Given the description of an element on the screen output the (x, y) to click on. 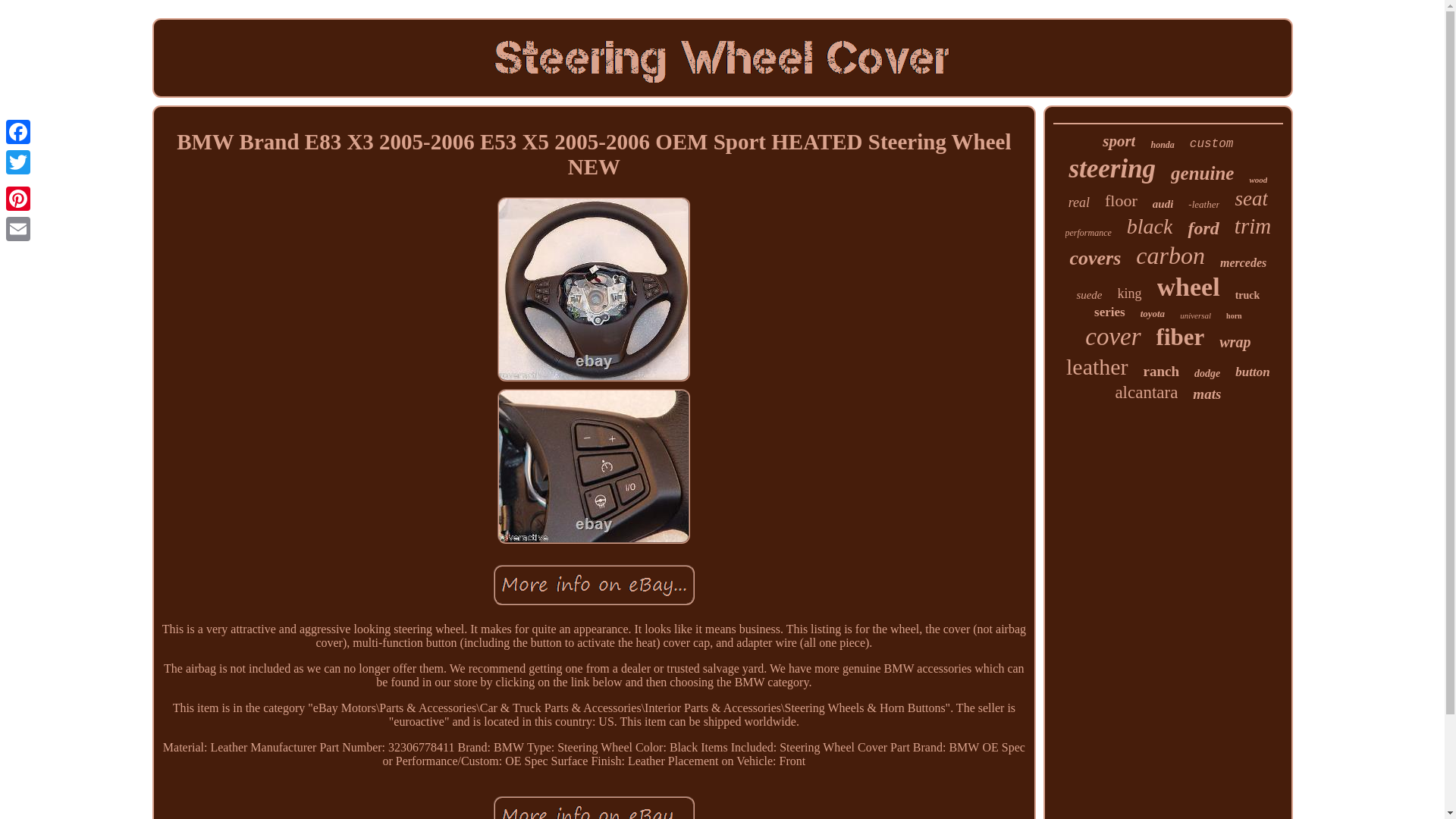
mercedes (1243, 263)
black (1149, 226)
wheel (1188, 287)
king (1129, 293)
sport (1118, 140)
toyota (1153, 313)
Email (17, 228)
honda (1161, 144)
horn (1233, 316)
